Given the description of an element on the screen output the (x, y) to click on. 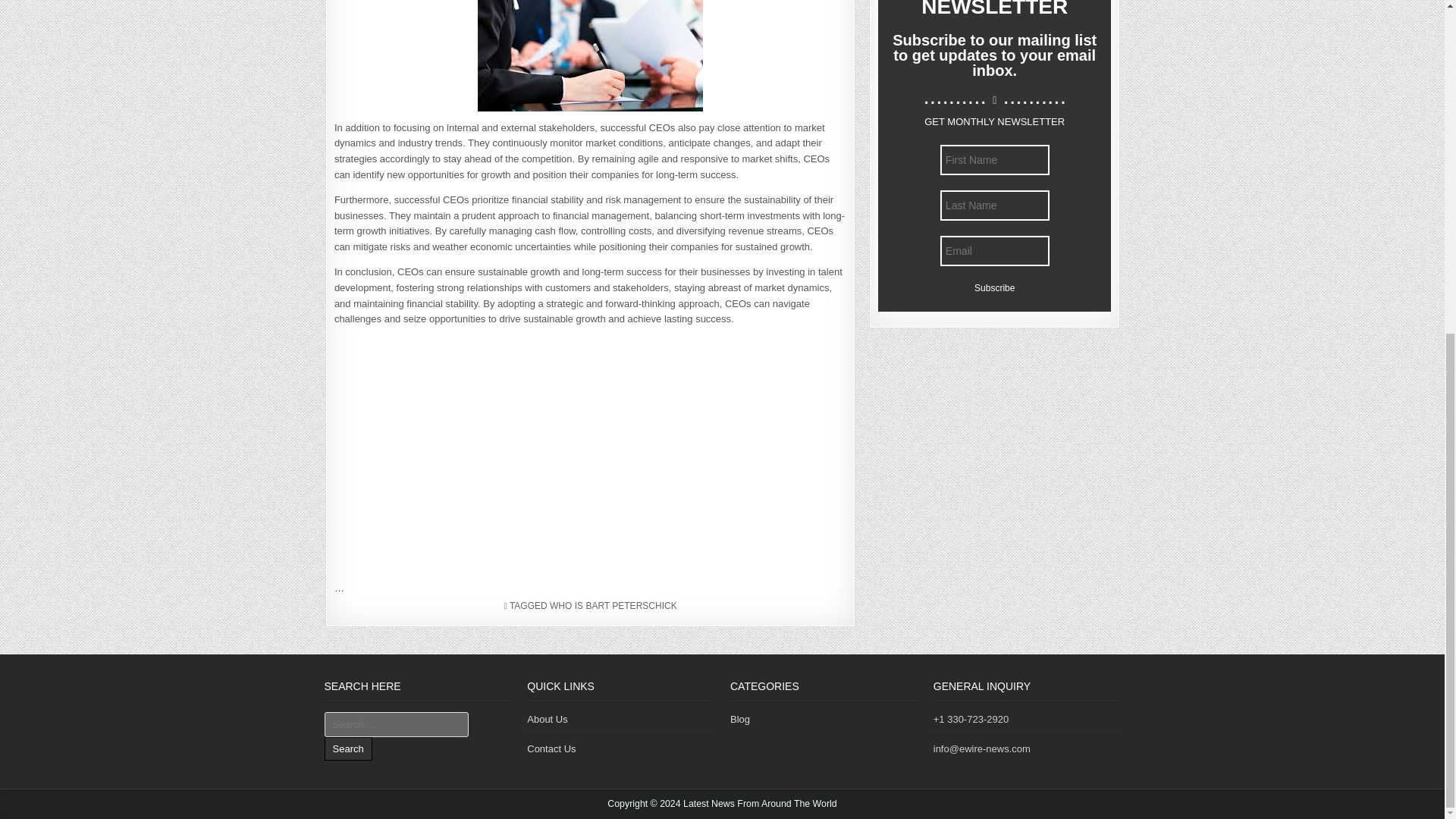
Search (348, 748)
Contact Us (551, 748)
WHO IS BART PETERSCHICK (613, 605)
Blog (739, 718)
YouTube video player (546, 446)
About Us (547, 718)
Subscribe (994, 288)
Search (348, 748)
Search (348, 748)
